Given the description of an element on the screen output the (x, y) to click on. 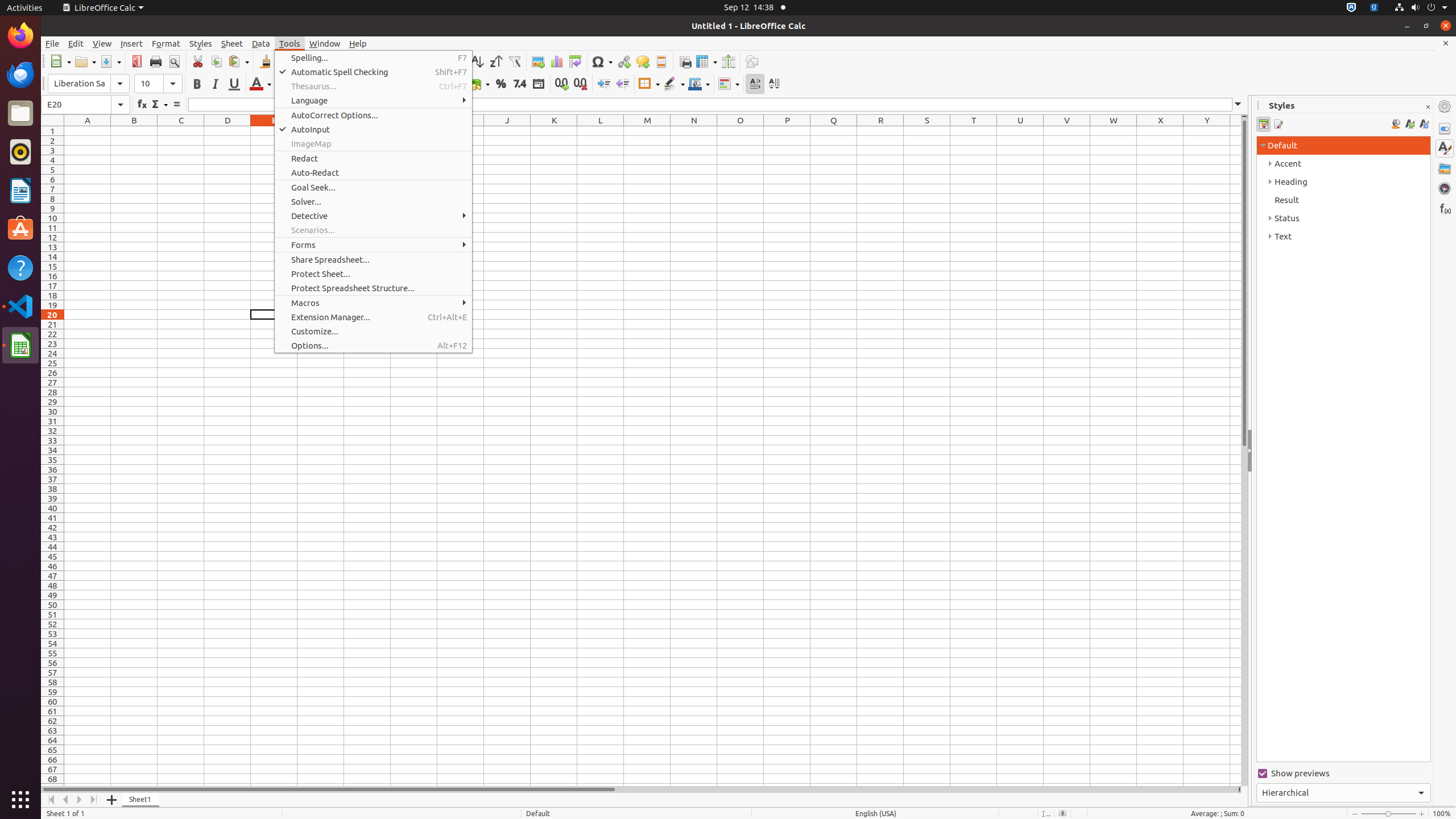
Comment Element type: push-button (642, 61)
Z1 Element type: table-cell (1235, 130)
Q1 Element type: table-cell (833, 130)
Thunderbird Mail Element type: push-button (20, 74)
Bold Element type: toggle-button (196, 83)
